Given the description of an element on the screen output the (x, y) to click on. 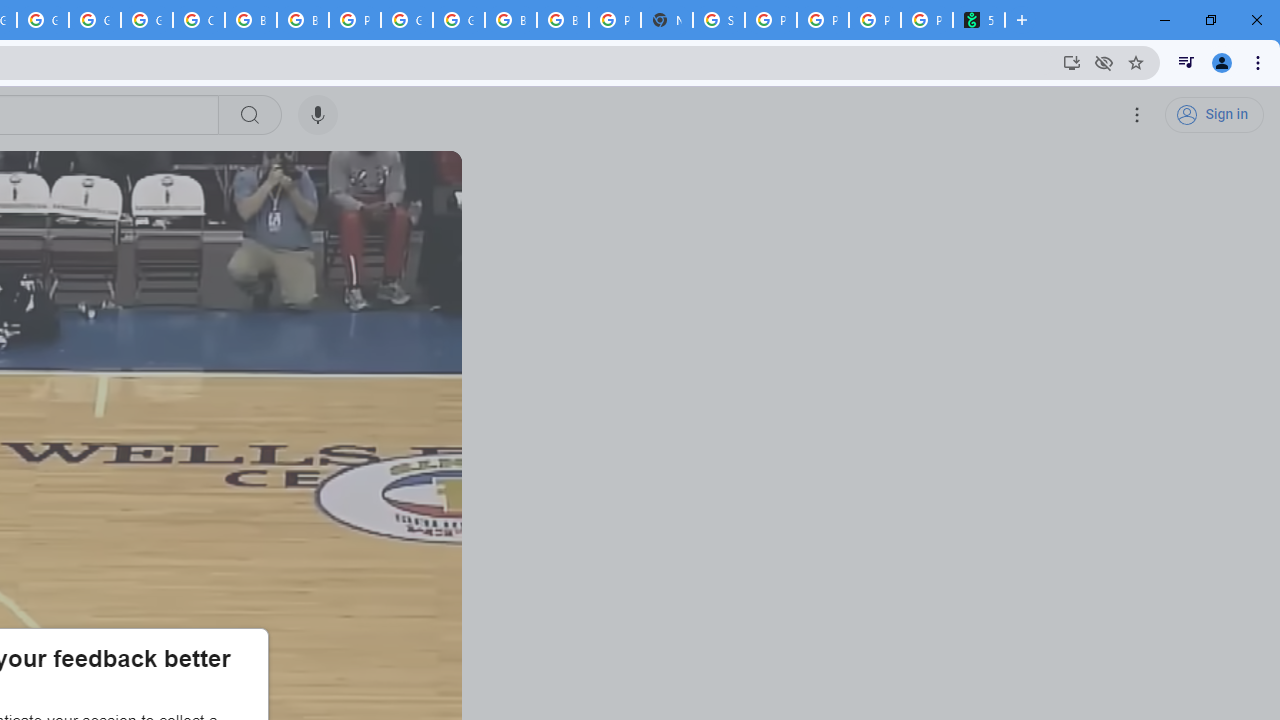
Google Cloud Platform (406, 20)
Privacy Checkup (822, 20)
Google Cloud Platform (458, 20)
Google Cloud Platform (95, 20)
Browse Chrome as a guest - Computer - Google Chrome Help (250, 20)
